Given the description of an element on the screen output the (x, y) to click on. 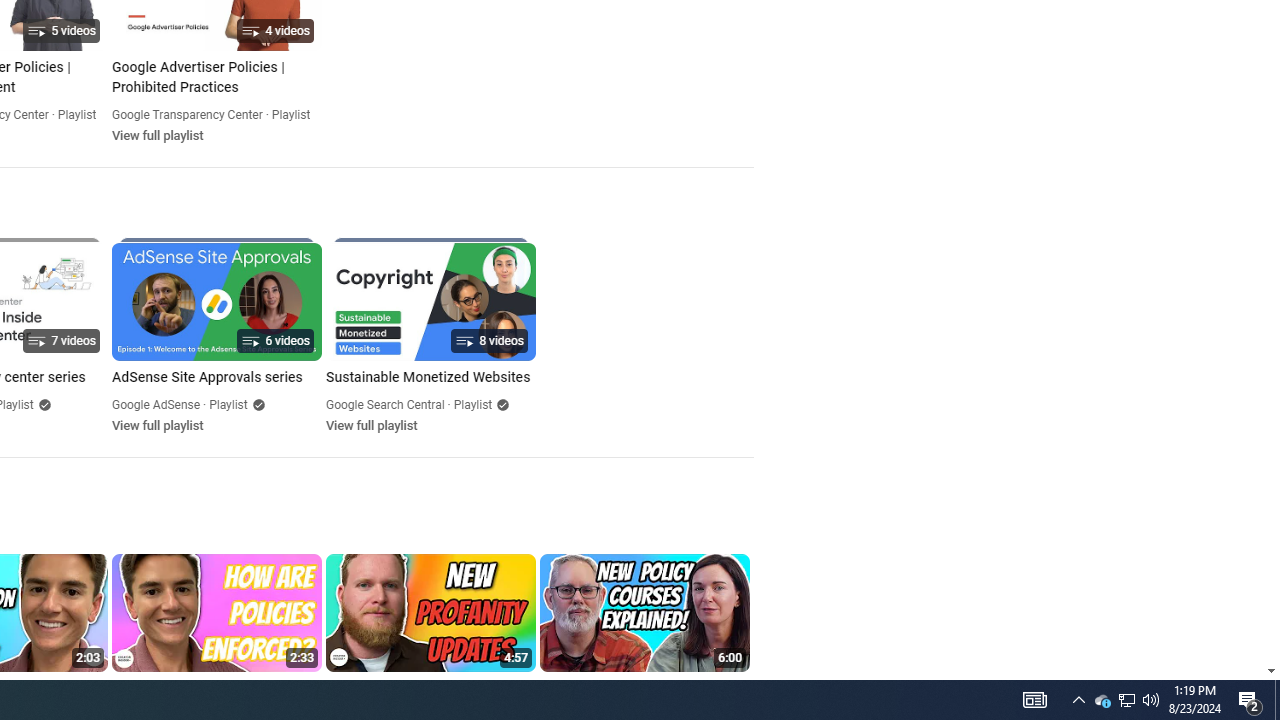
Google AdSense (155, 404)
Sustainable Monetized Websites (430, 377)
Google Transparency Center (187, 114)
Google Search Central (385, 404)
Action menu (736, 687)
View full playlist (371, 425)
Playlist (472, 404)
Google Advertiser Policies | Prohibited Practices (216, 77)
Verified (500, 403)
AdSense Site Approvals series (216, 377)
